Given the description of an element on the screen output the (x, y) to click on. 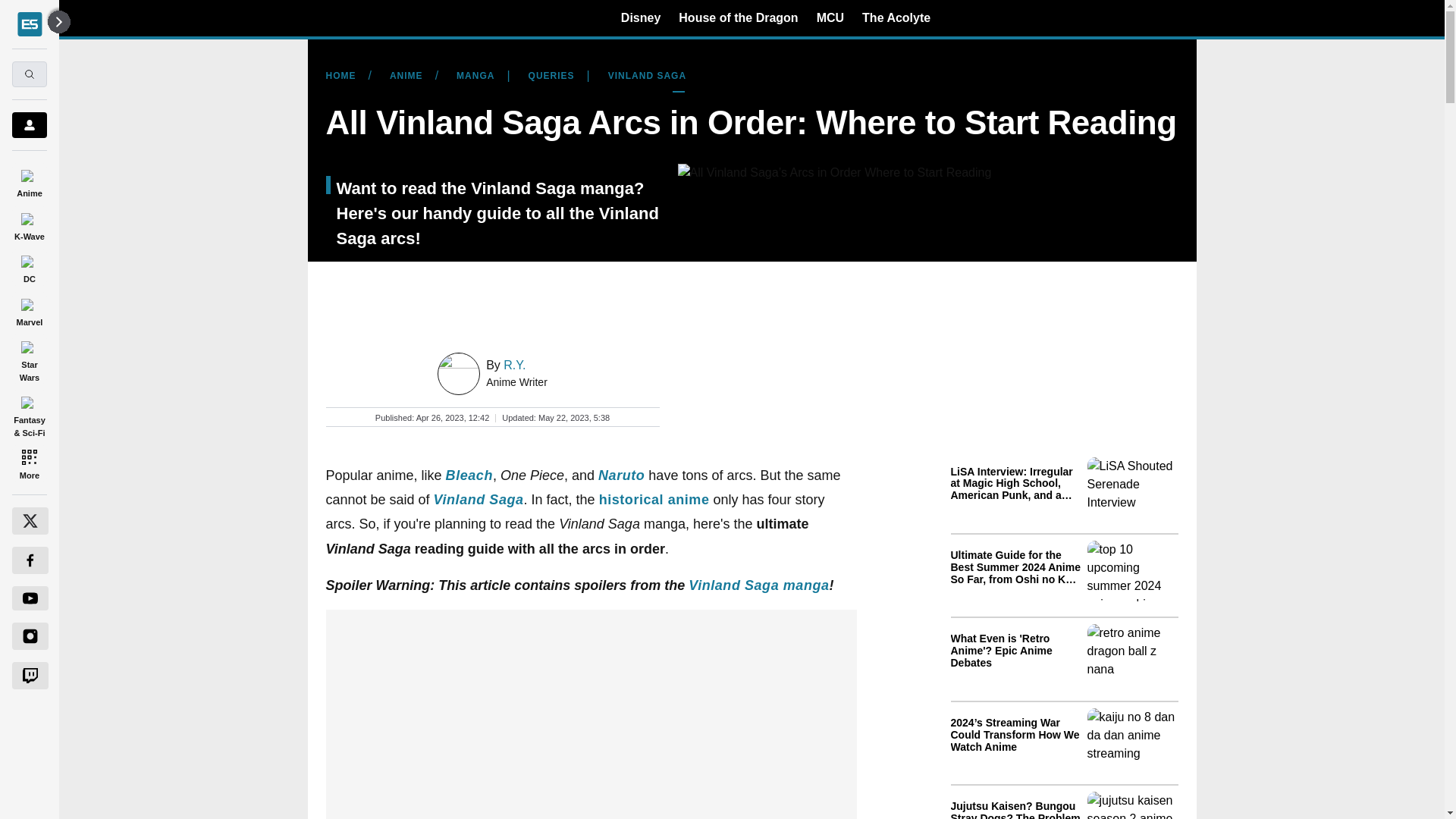
K-Wave (28, 224)
The Acolyte (895, 18)
DC (28, 266)
More (28, 463)
Anime (28, 180)
House of the Dragon (737, 18)
MCU (830, 18)
Marvel (28, 309)
Disney (641, 18)
